Given the description of an element on the screen output the (x, y) to click on. 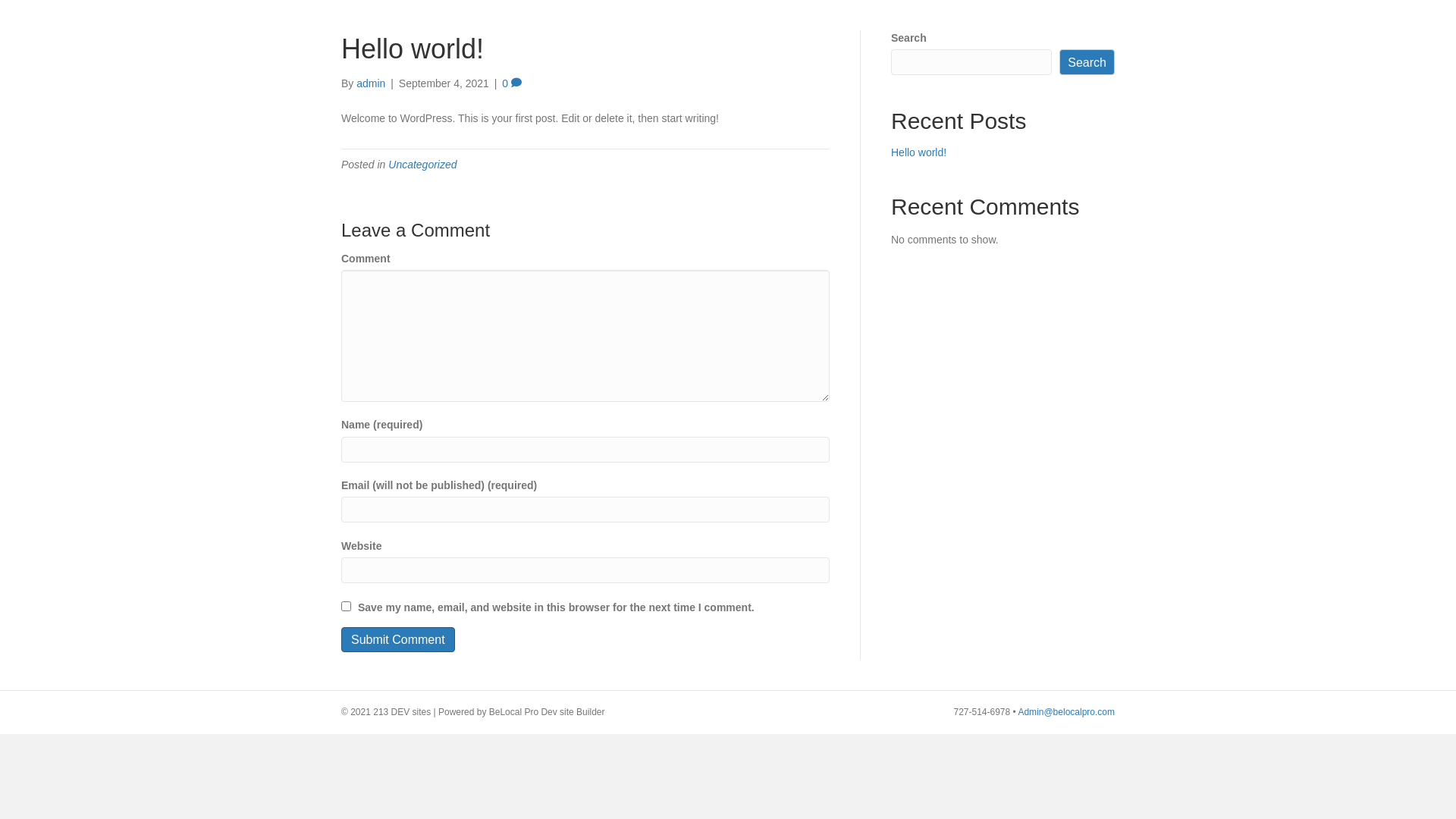
Admin@belocalpro.com Element type: text (1065, 711)
Hello world! Element type: text (918, 152)
admin Element type: text (370, 83)
Uncategorized Element type: text (422, 164)
0 Element type: text (511, 83)
Submit Comment Element type: text (398, 639)
Search Element type: text (1086, 62)
